Given the description of an element on the screen output the (x, y) to click on. 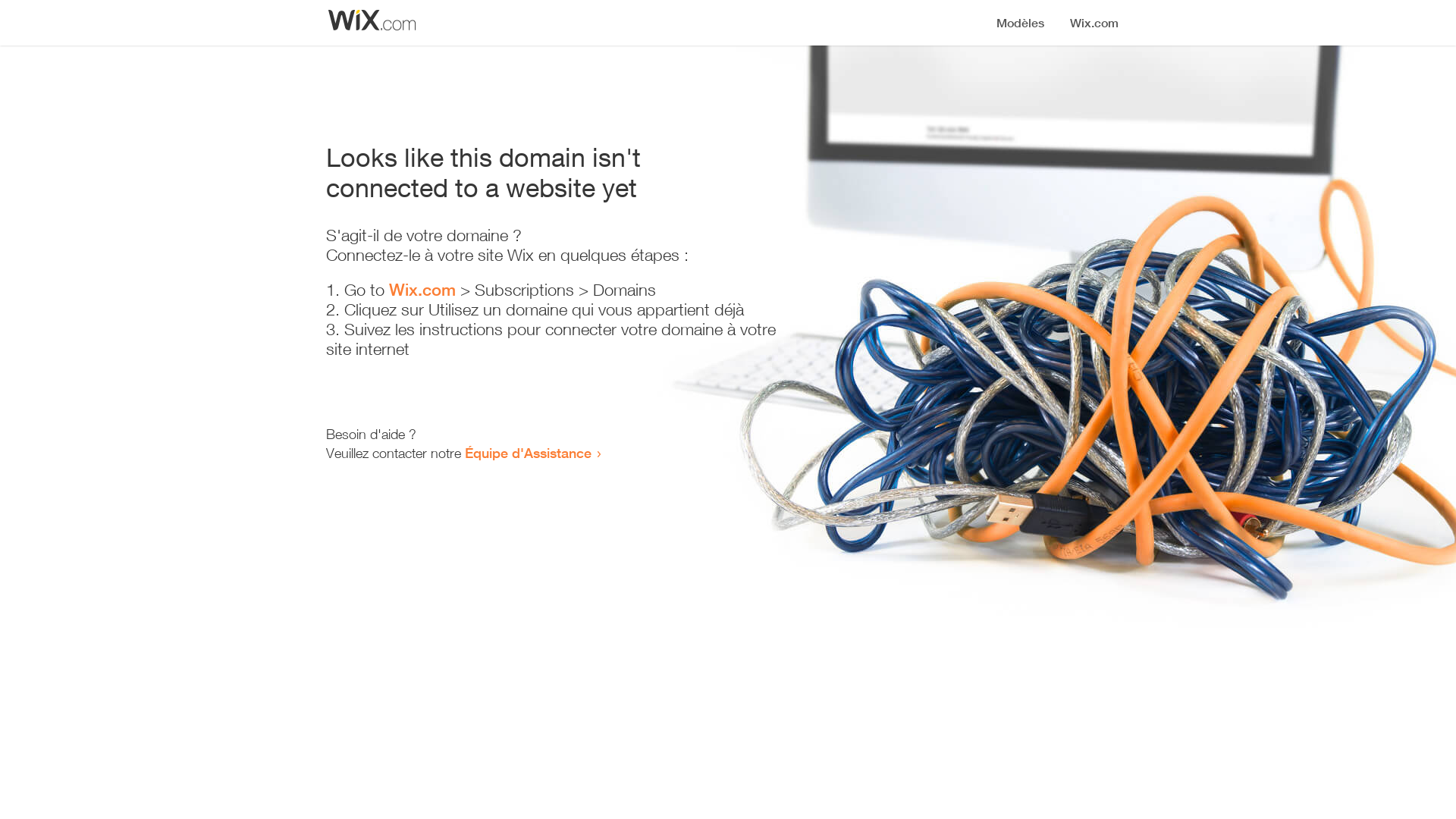
Wix.com Element type: text (422, 289)
